Given the description of an element on the screen output the (x, y) to click on. 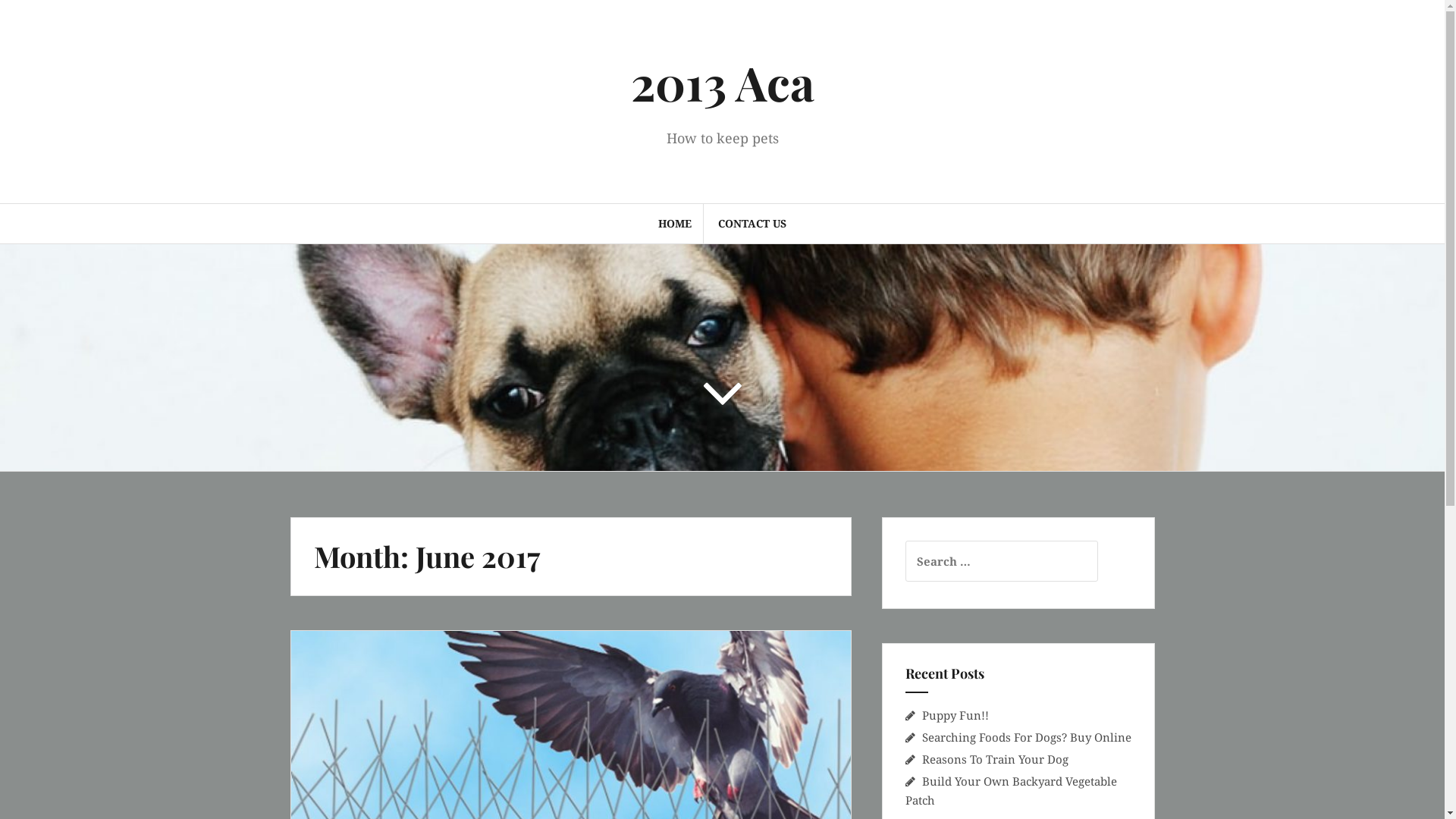
Puppy Fun!! Element type: text (955, 714)
CONTACT US Element type: text (752, 223)
2013 Aca Element type: text (722, 81)
Build Your Own Backyard Vegetable Patch Element type: text (1011, 790)
Searching Foods For Dogs? Buy Online Element type: text (1026, 736)
Reasons To Train Your Dog Element type: text (995, 758)
HOME Element type: text (674, 223)
Search Element type: text (31, 20)
